Given the description of an element on the screen output the (x, y) to click on. 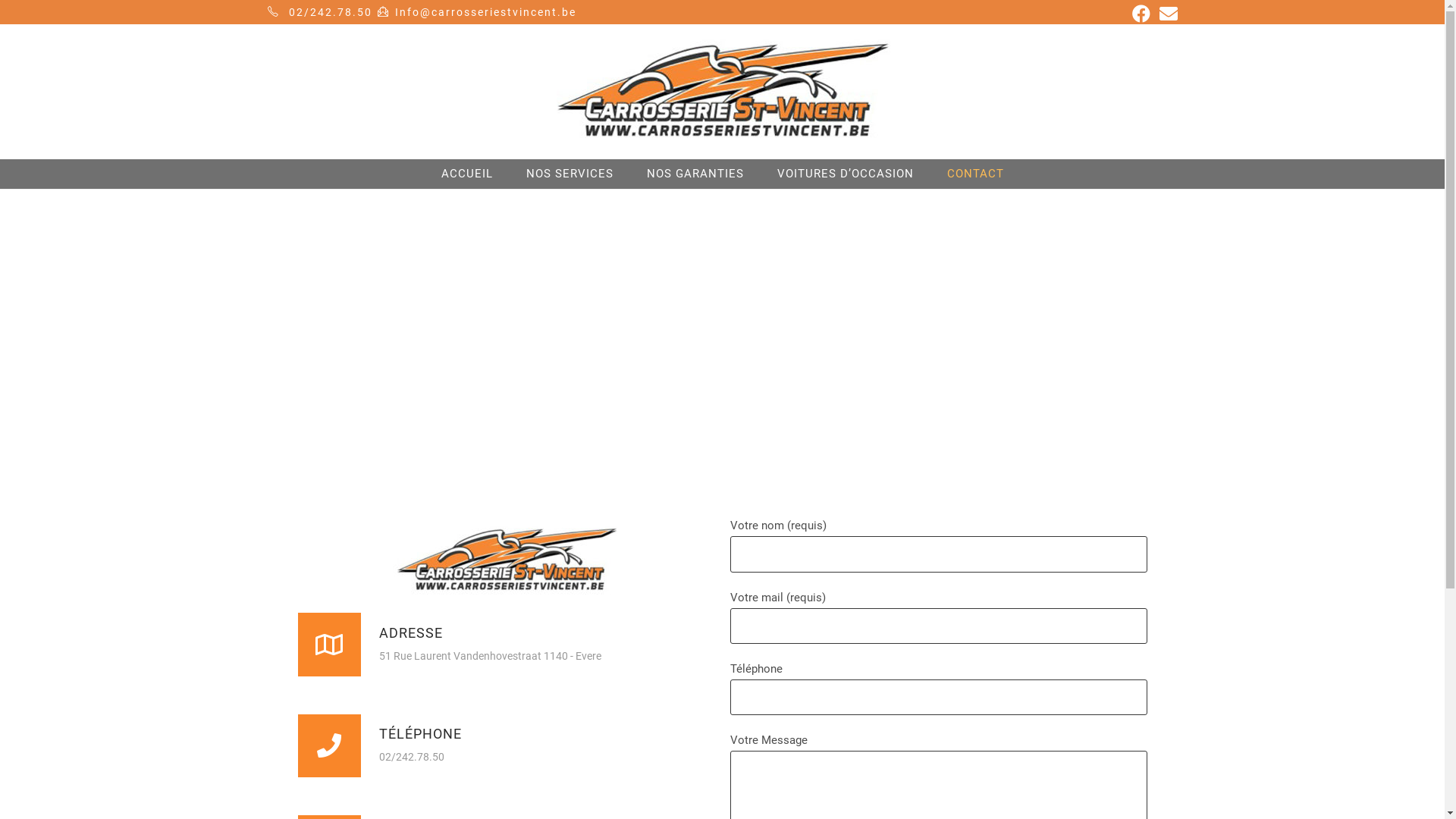
ACCUEIL Element type: text (466, 173)
51 Rue Laurent Vandenhovestraat 1140 - Evere Element type: hover (722, 318)
CONTACT Element type: text (974, 173)
NOS SERVICES Element type: text (569, 173)
NOS GARANTIES Element type: text (694, 173)
